Given the description of an element on the screen output the (x, y) to click on. 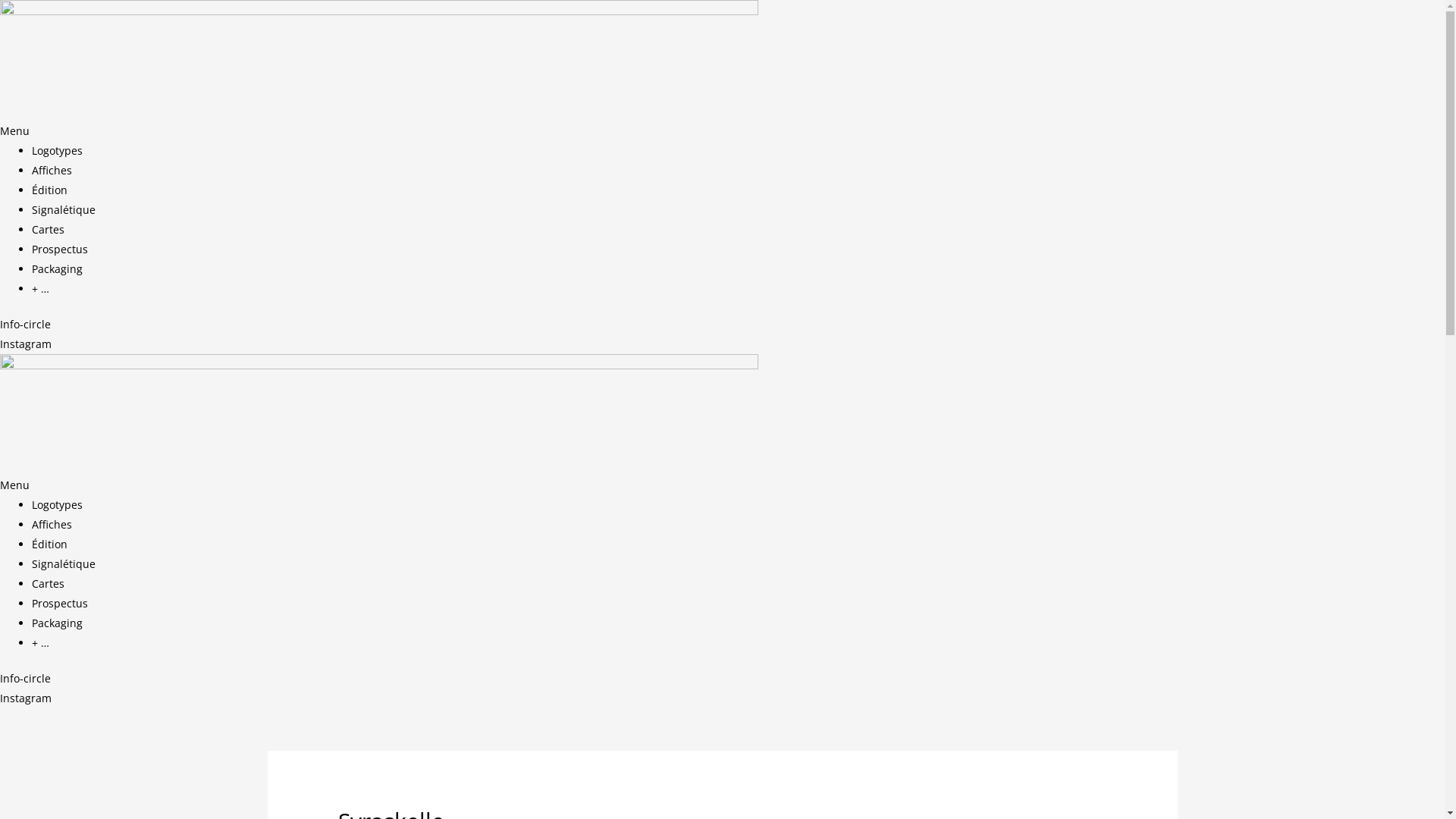
Prospectus Element type: text (59, 248)
Info-circle Element type: text (25, 323)
Instagram Element type: text (25, 343)
Cartes Element type: text (47, 583)
Logotypes Element type: text (56, 150)
Affiches Element type: text (51, 170)
Packaging Element type: text (56, 268)
Instagram Element type: text (25, 697)
Affiches Element type: text (51, 524)
Cartes Element type: text (47, 229)
Info-circle Element type: text (25, 678)
Prospectus Element type: text (59, 603)
Packaging Element type: text (56, 622)
Logotypes Element type: text (56, 504)
